Given the description of an element on the screen output the (x, y) to click on. 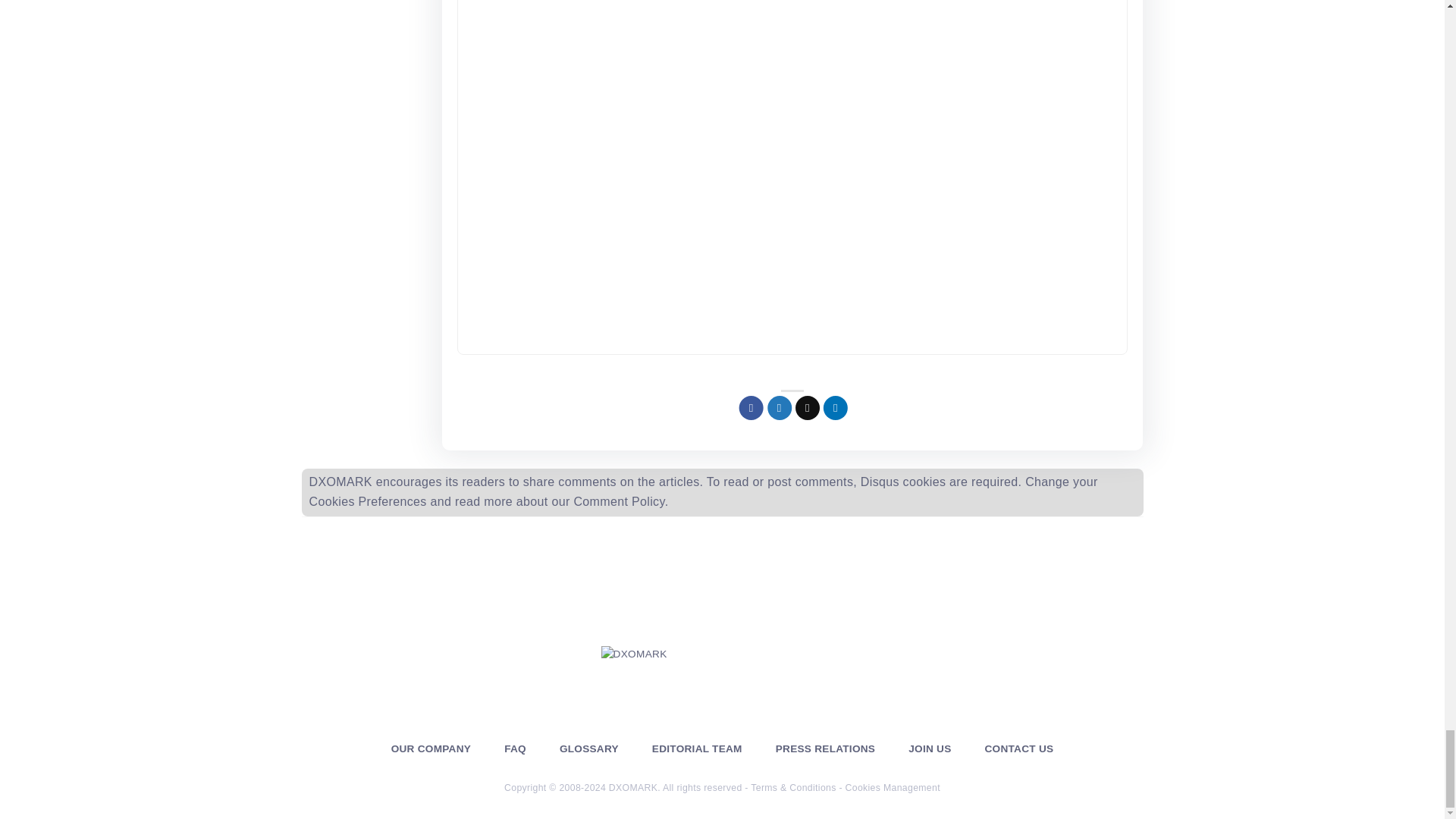
Share on LinkedIn (838, 410)
Share on Facebook (754, 410)
Share on Twitter (782, 410)
Email to a Friend (809, 410)
